Given the description of an element on the screen output the (x, y) to click on. 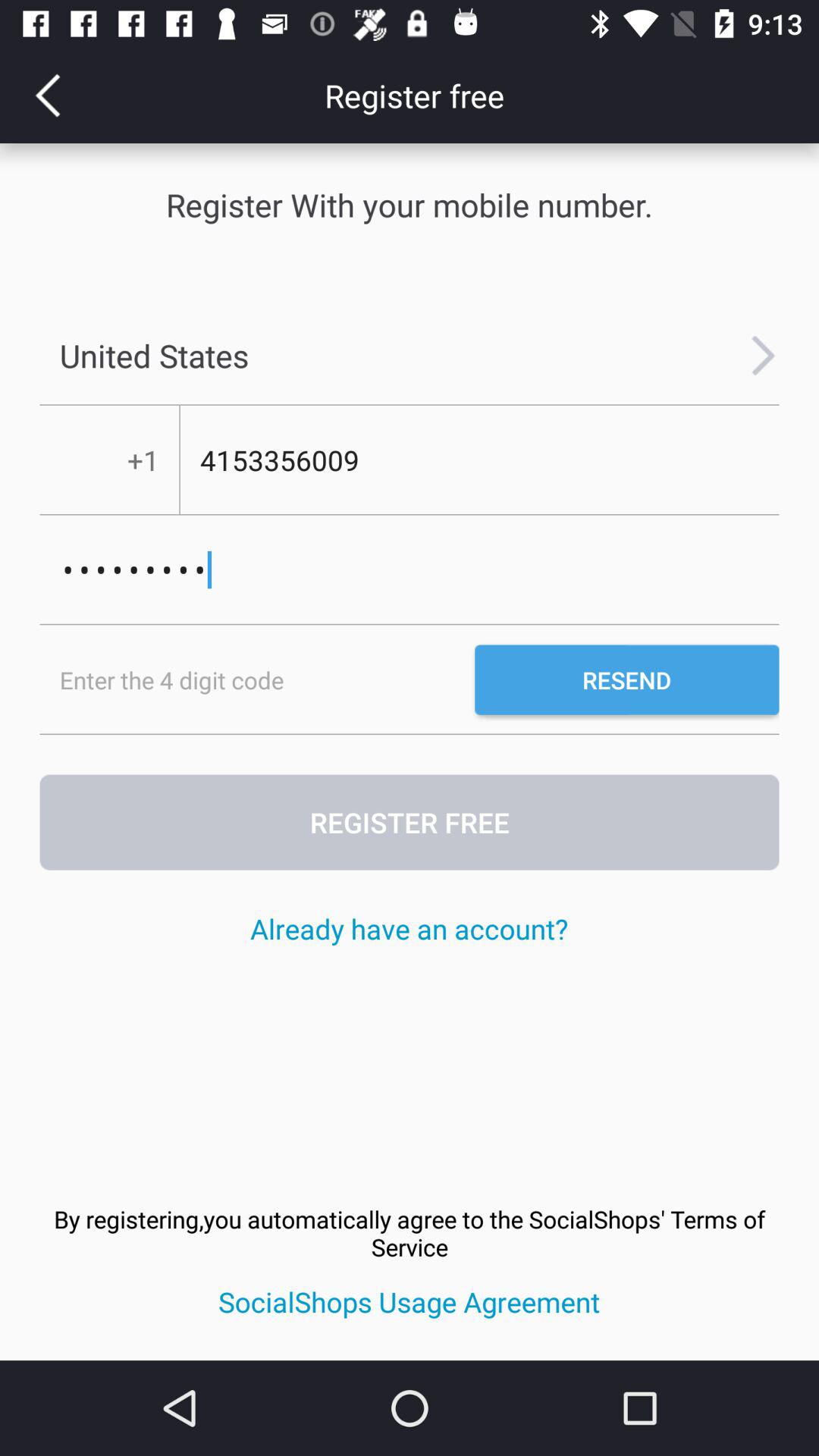
launch 4153356009 (479, 460)
